Given the description of an element on the screen output the (x, y) to click on. 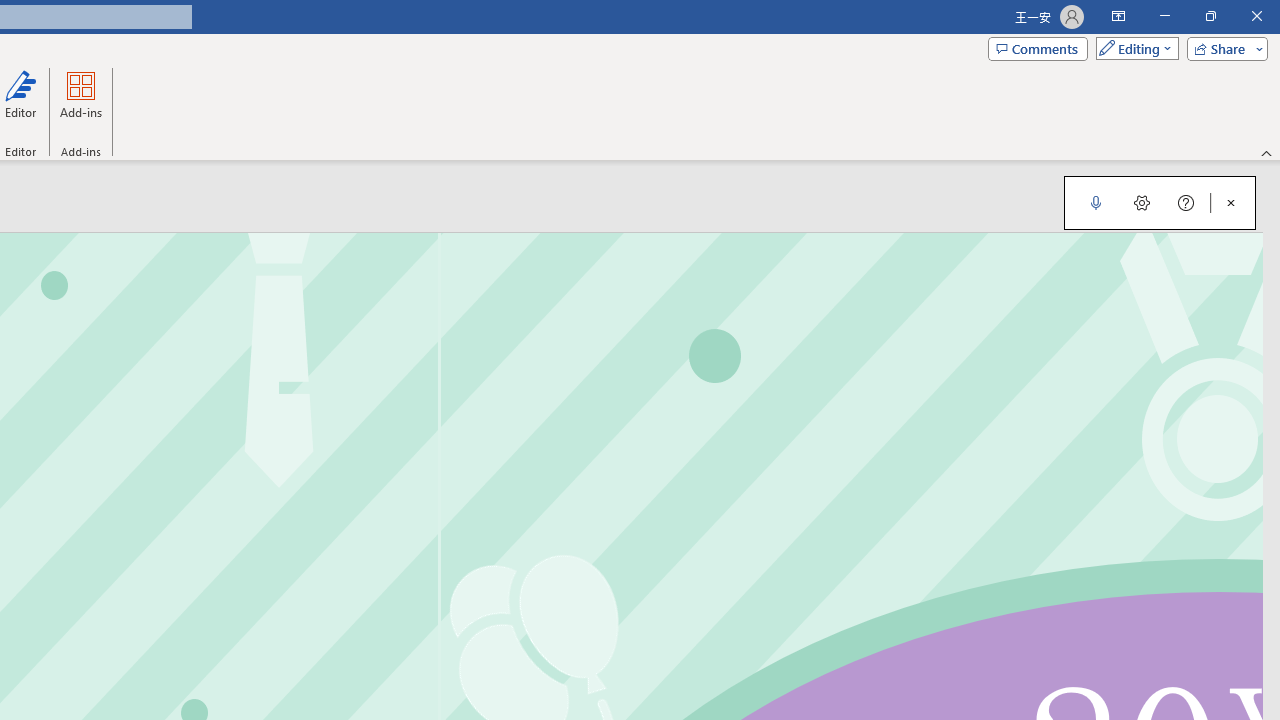
Start Dictation (1096, 202)
